Given the description of an element on the screen output the (x, y) to click on. 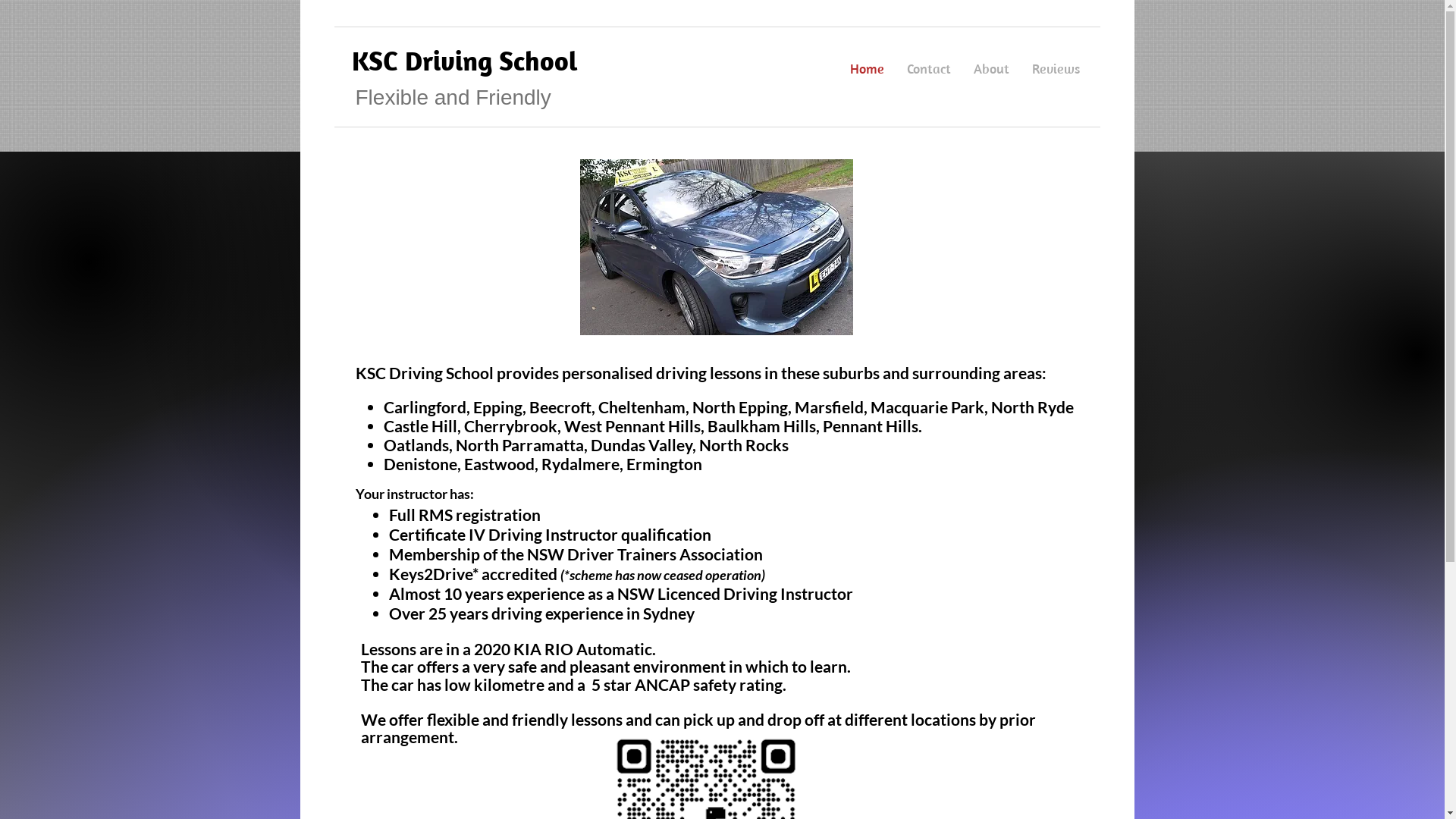
About Element type: text (991, 68)
Contact Element type: text (928, 68)
Reviews Element type: text (1055, 68)
Home Element type: text (866, 68)
